Given the description of an element on the screen output the (x, y) to click on. 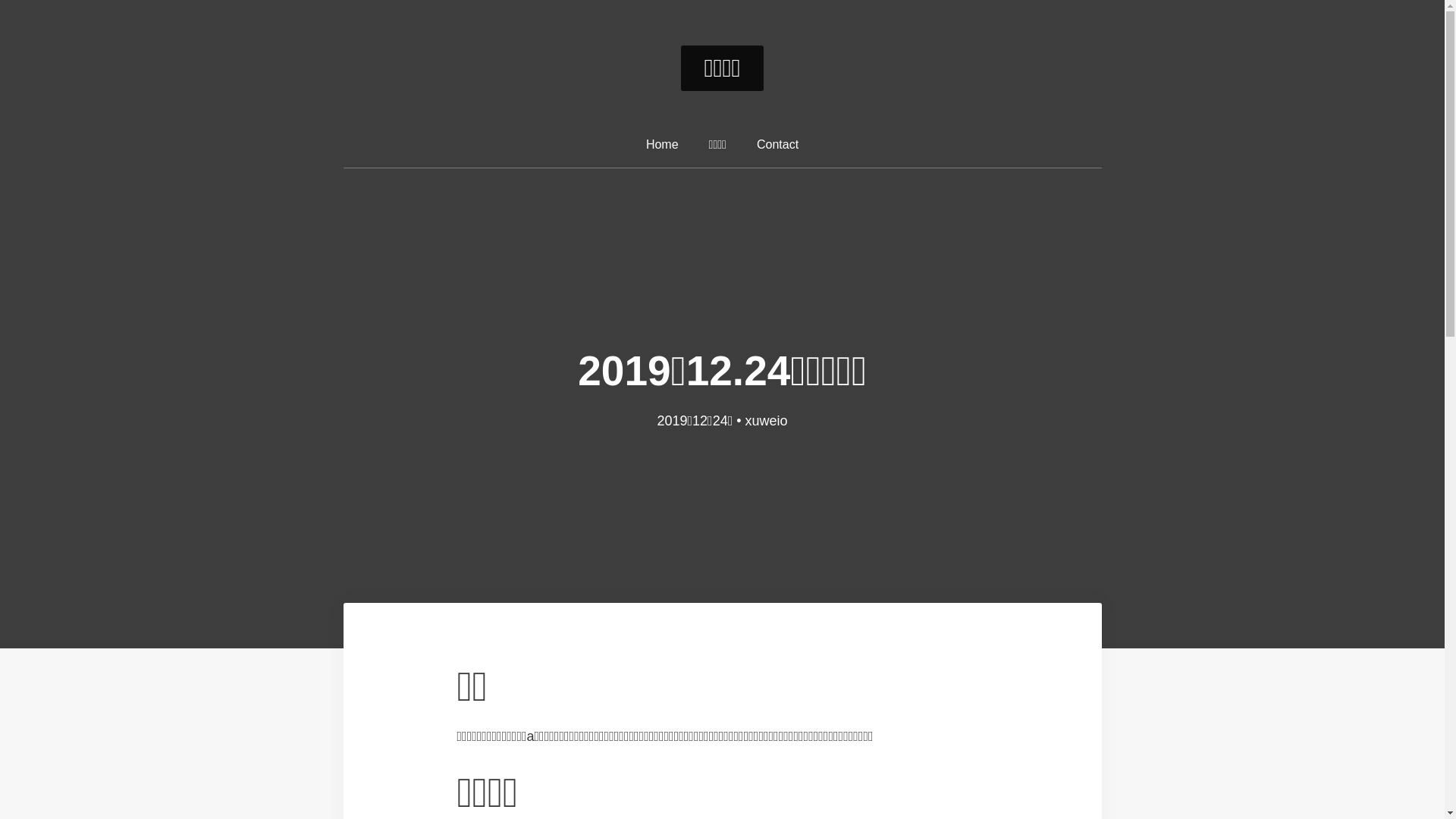
Contact Element type: text (777, 145)
Home Element type: text (661, 145)
xuweio Element type: text (766, 420)
